Given the description of an element on the screen output the (x, y) to click on. 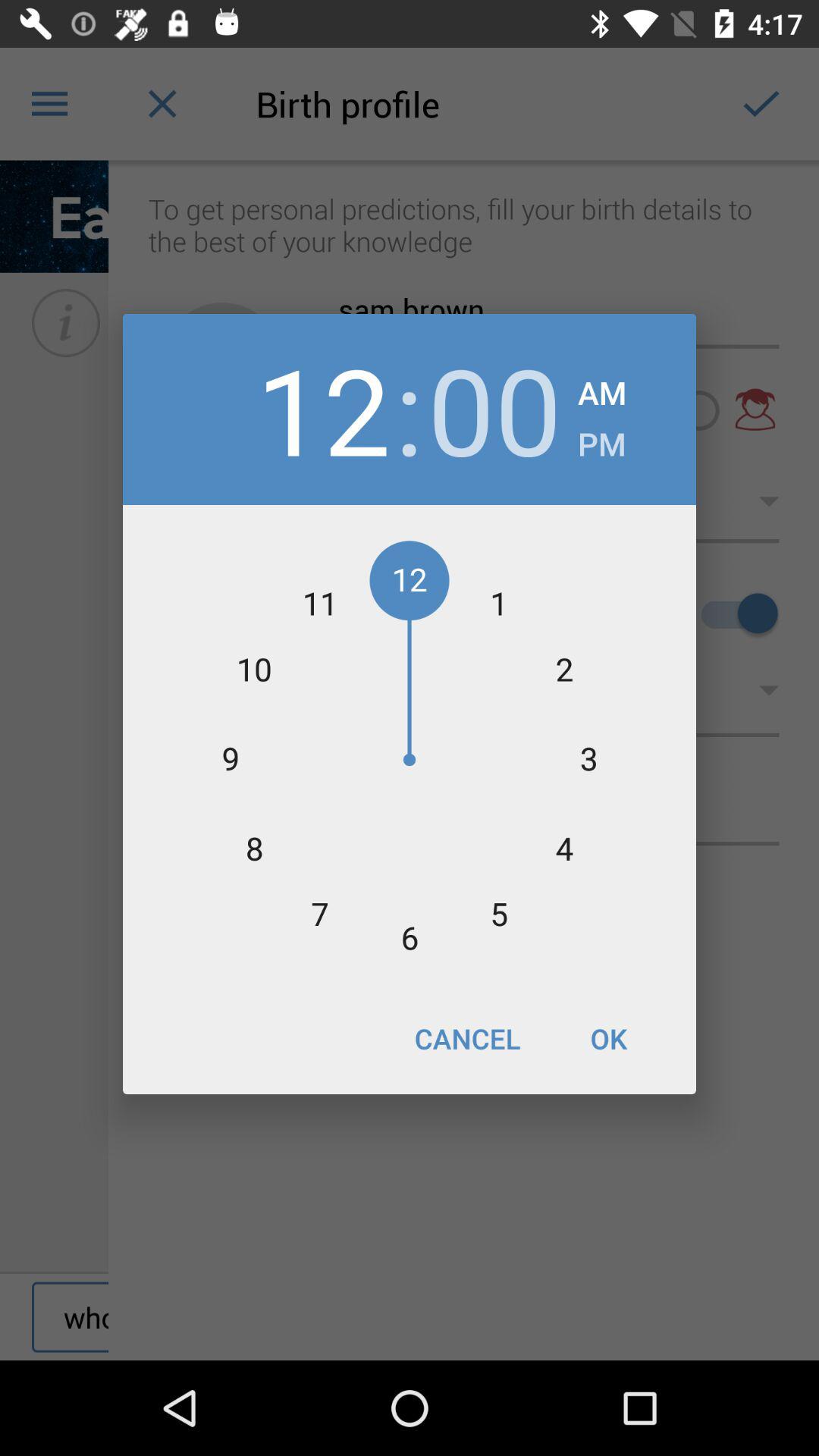
select the item to the left of the am item (494, 408)
